Given the description of an element on the screen output the (x, y) to click on. 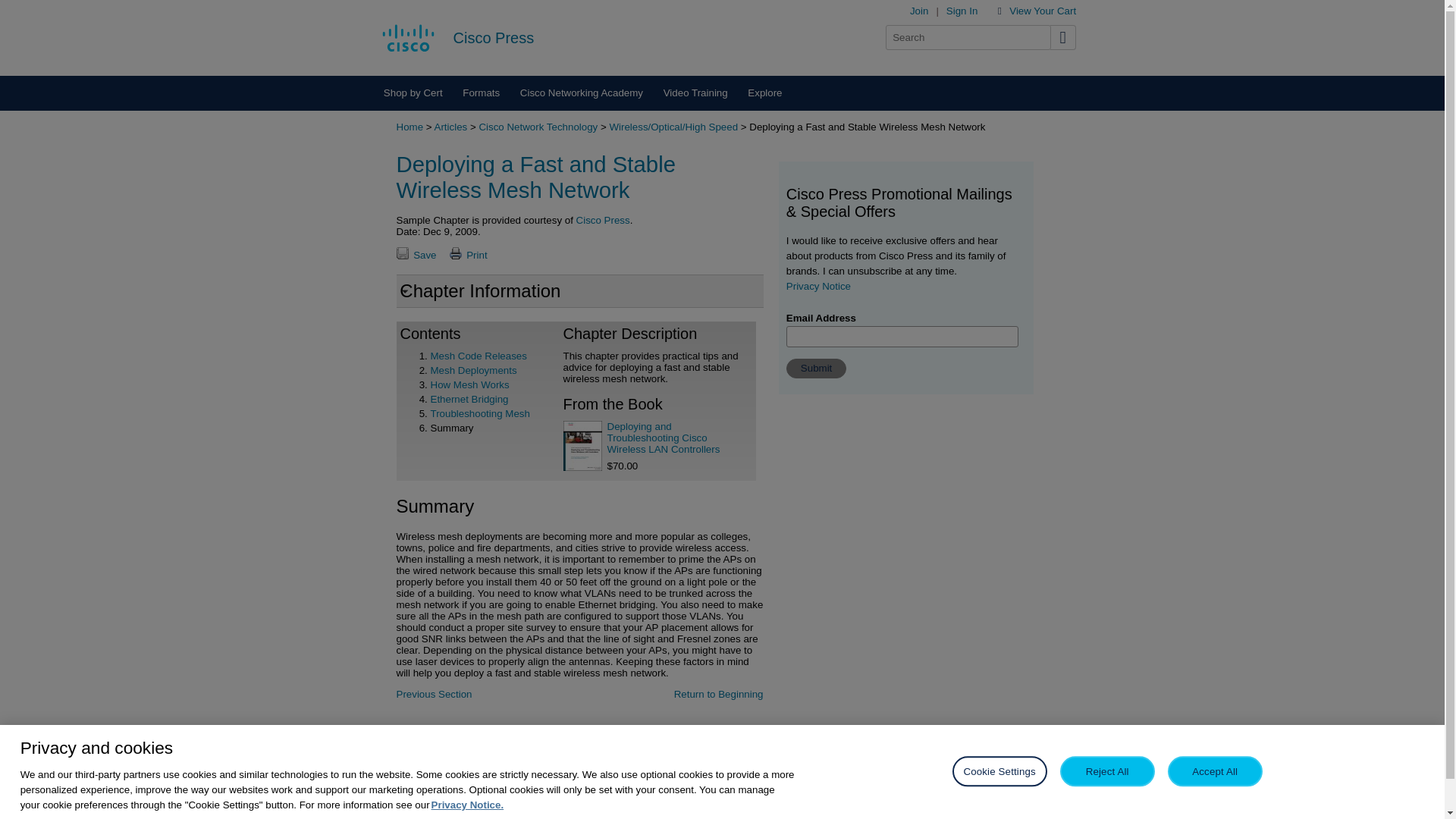
Explore (765, 92)
Join (919, 10)
Cisco Networking Academy (580, 92)
Cisco.com (408, 37)
Shop by Cert (411, 92)
View Your Cart (1042, 10)
Video Training (695, 92)
Sign In (962, 10)
Submit (815, 368)
Formats (481, 92)
